Given the description of an element on the screen output the (x, y) to click on. 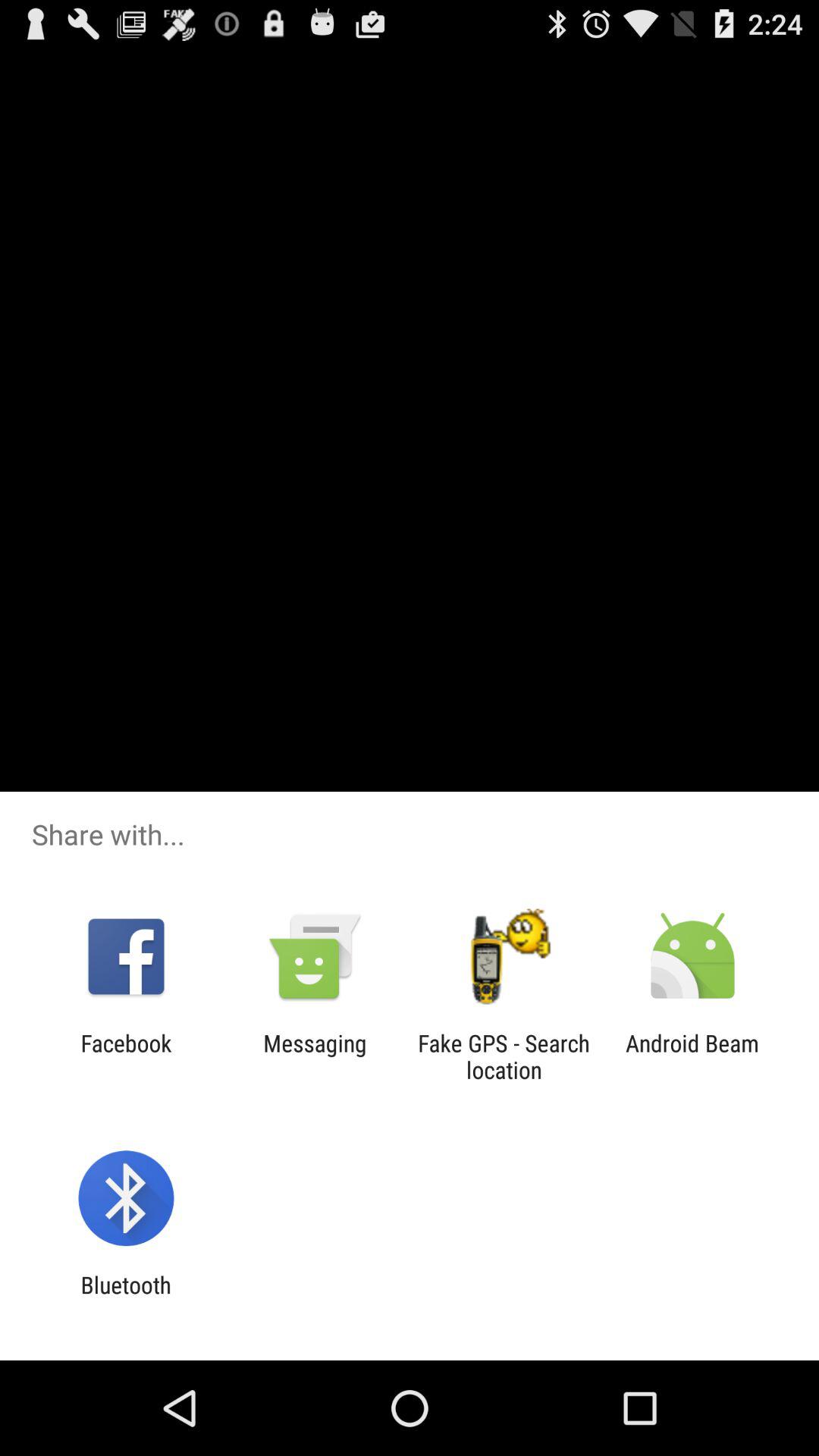
choose the fake gps search app (503, 1056)
